Given the description of an element on the screen output the (x, y) to click on. 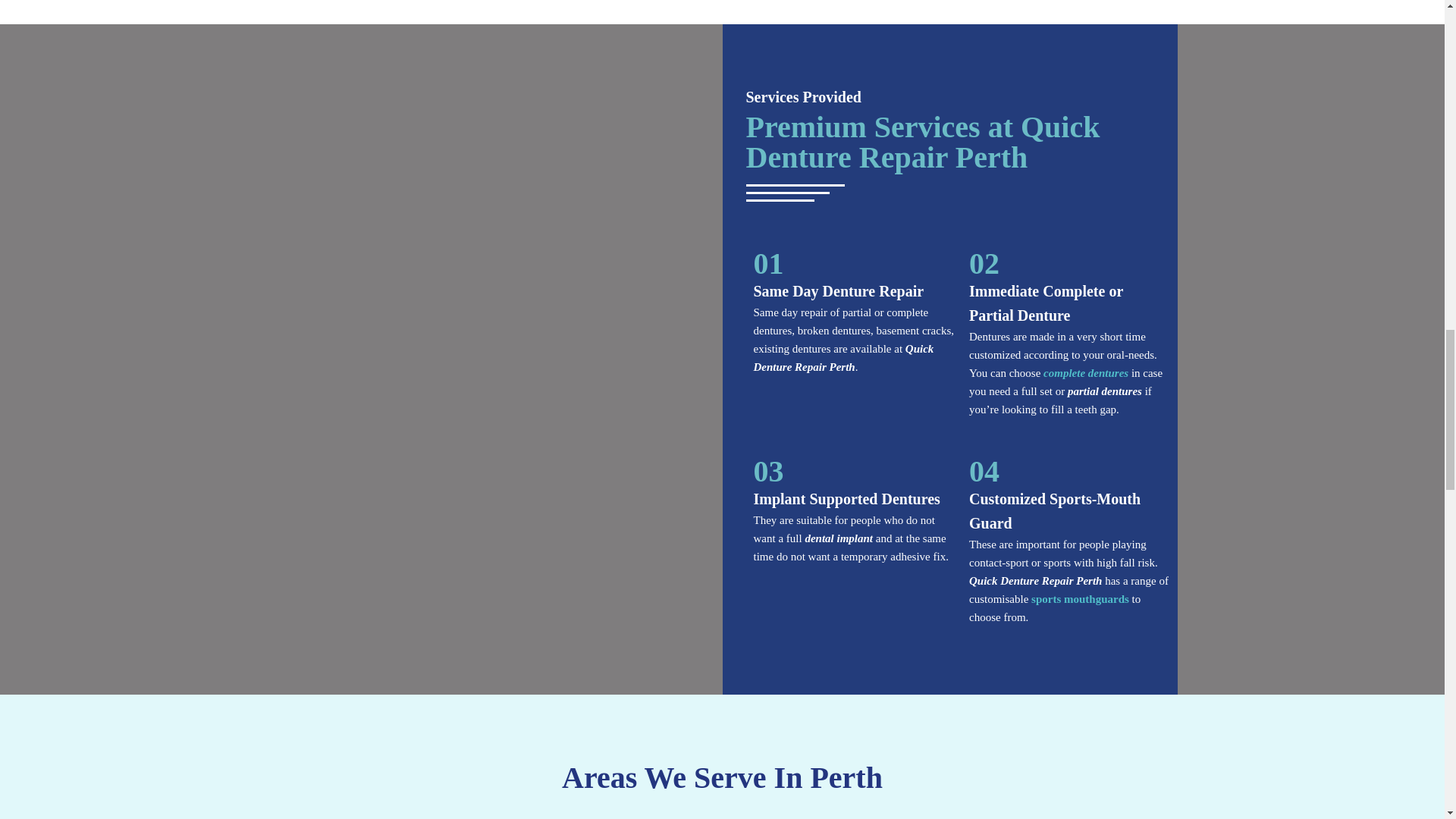
complete dentures (1087, 372)
sports mouthguards (1079, 598)
